Given the description of an element on the screen output the (x, y) to click on. 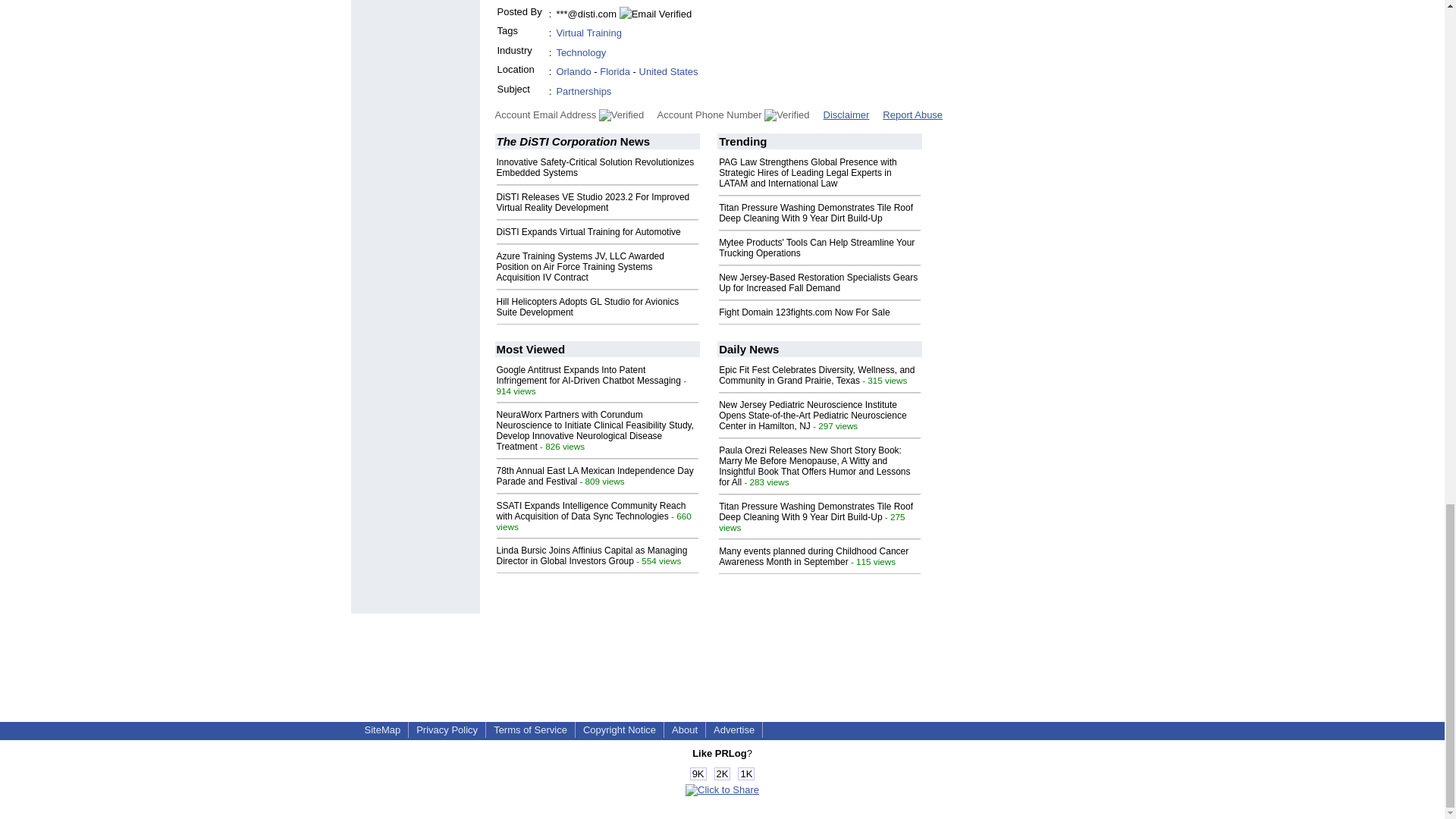
Verified (786, 114)
Verified (620, 114)
Email Verified (655, 14)
Share this page! (721, 789)
